Given the description of an element on the screen output the (x, y) to click on. 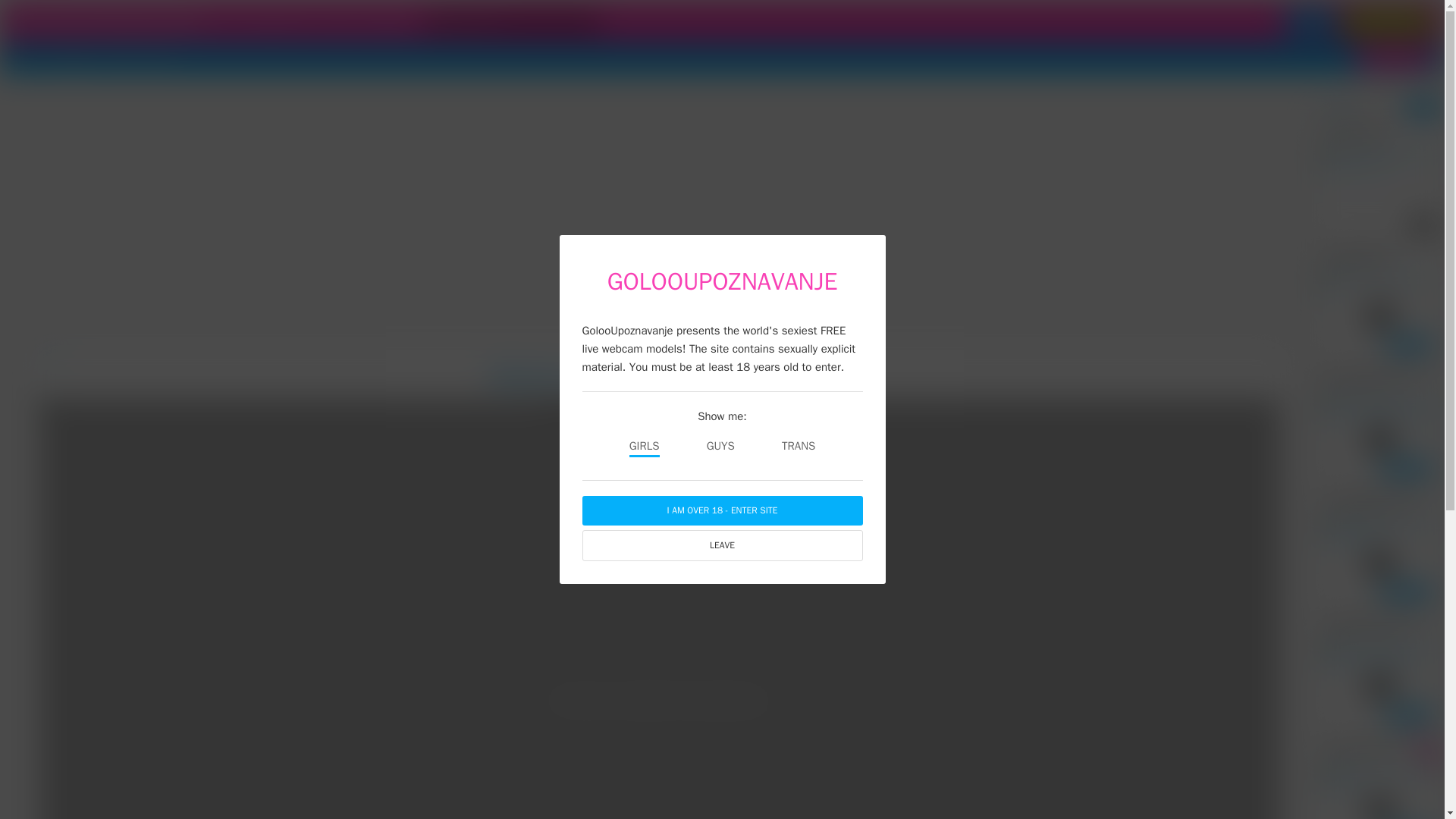
Guys (160, 58)
View all (1423, 107)
MODEL SIGNUP (1394, 58)
private shows (274, 21)
JOIN NOW FREE (1387, 22)
SIGN IN (1310, 22)
Trans (120, 58)
Couples (74, 58)
back (52, 356)
Girls (29, 58)
